Given the description of an element on the screen output the (x, y) to click on. 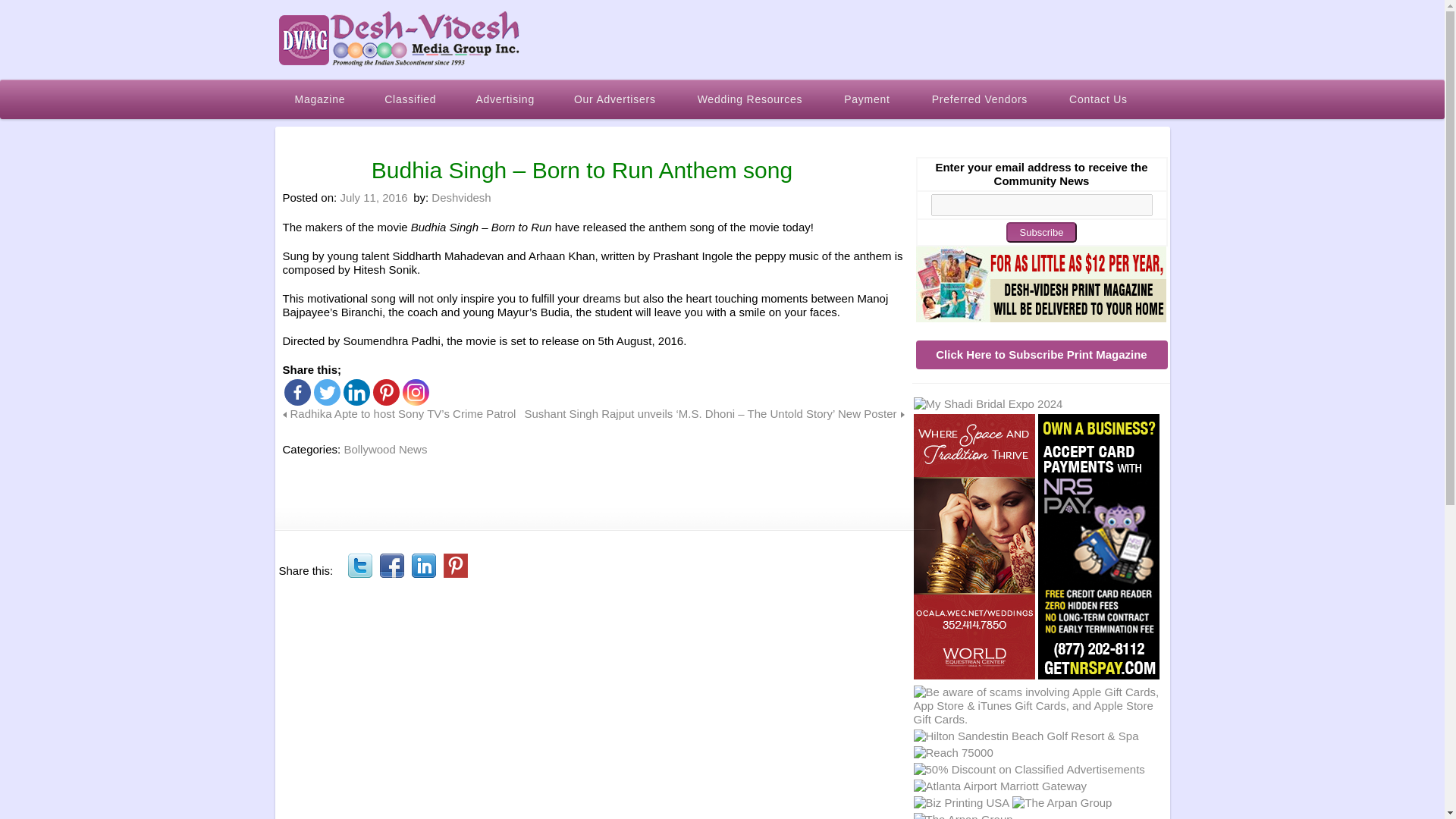
Contact Us (1099, 98)
Our Advertisers (616, 98)
Magazine (320, 98)
Linkedin (355, 392)
Pinterest (455, 565)
Wedding Resources (751, 98)
Desh-Videsh Media Group (398, 38)
Monday, July 11th, 2016, 3:32 pm (373, 196)
Preferred Vendors (980, 98)
My Shadi Bridal Expo 2024 (987, 404)
Deshvidesh (460, 196)
Instagram (414, 392)
Advertising (504, 98)
Twitter (327, 392)
Subscribe (1041, 231)
